Given the description of an element on the screen output the (x, y) to click on. 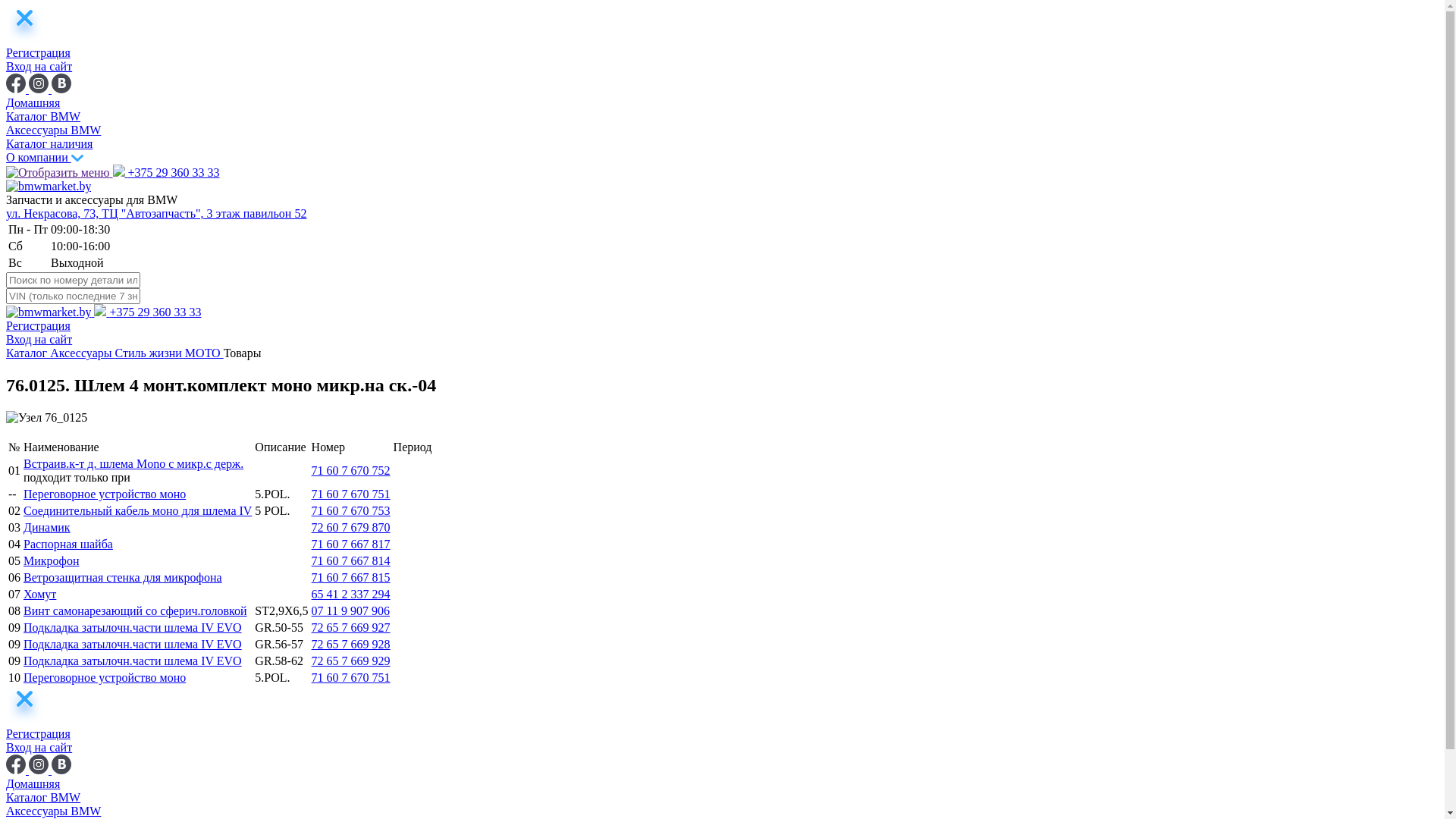
65 41 2 337 294 Element type: text (350, 593)
71 60 7 670 753 Element type: text (350, 510)
71 60 7 670 751 Element type: text (350, 493)
+375 29 360 33 33 Element type: text (165, 172)
72 60 7 679 870 Element type: text (350, 526)
71 60 7 667 815 Element type: text (350, 577)
+375 29 360 33 33 Element type: text (147, 311)
72 65 7 669 927 Element type: text (350, 627)
71 60 7 670 751 Element type: text (350, 677)
71 60 7 667 817 Element type: text (350, 543)
07 11 9 907 906 Element type: text (350, 610)
72 65 7 669 928 Element type: text (350, 643)
71 60 7 667 814 Element type: text (350, 560)
72 65 7 669 929 Element type: text (350, 660)
71 60 7 670 752 Element type: text (350, 470)
